Given the description of an element on the screen output the (x, y) to click on. 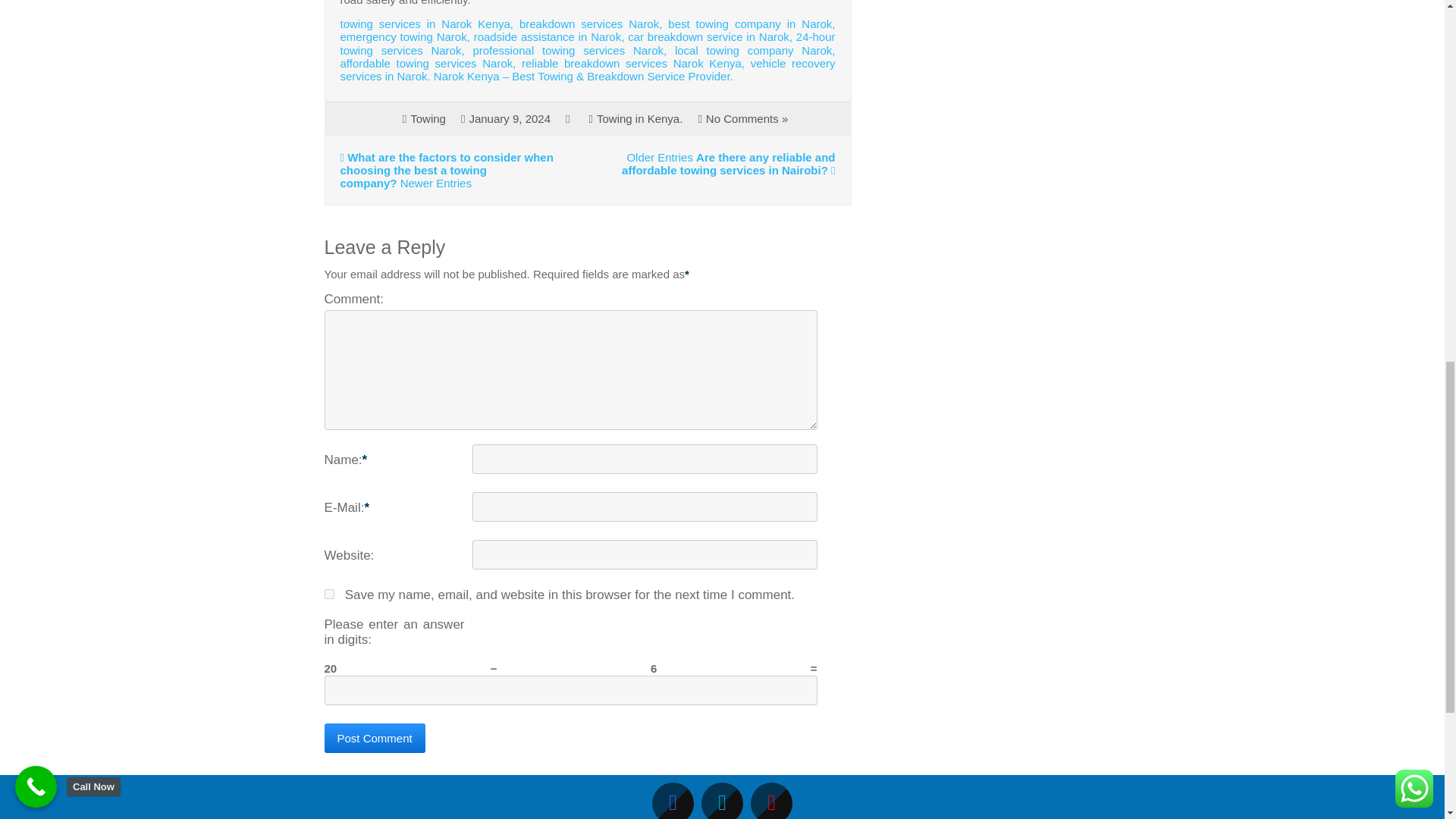
Post Comment (374, 737)
yes (329, 593)
Towing (427, 118)
Post Comment (374, 737)
Towing in Kenya. (639, 118)
Posts by Towing (427, 118)
